Given the description of an element on the screen output the (x, y) to click on. 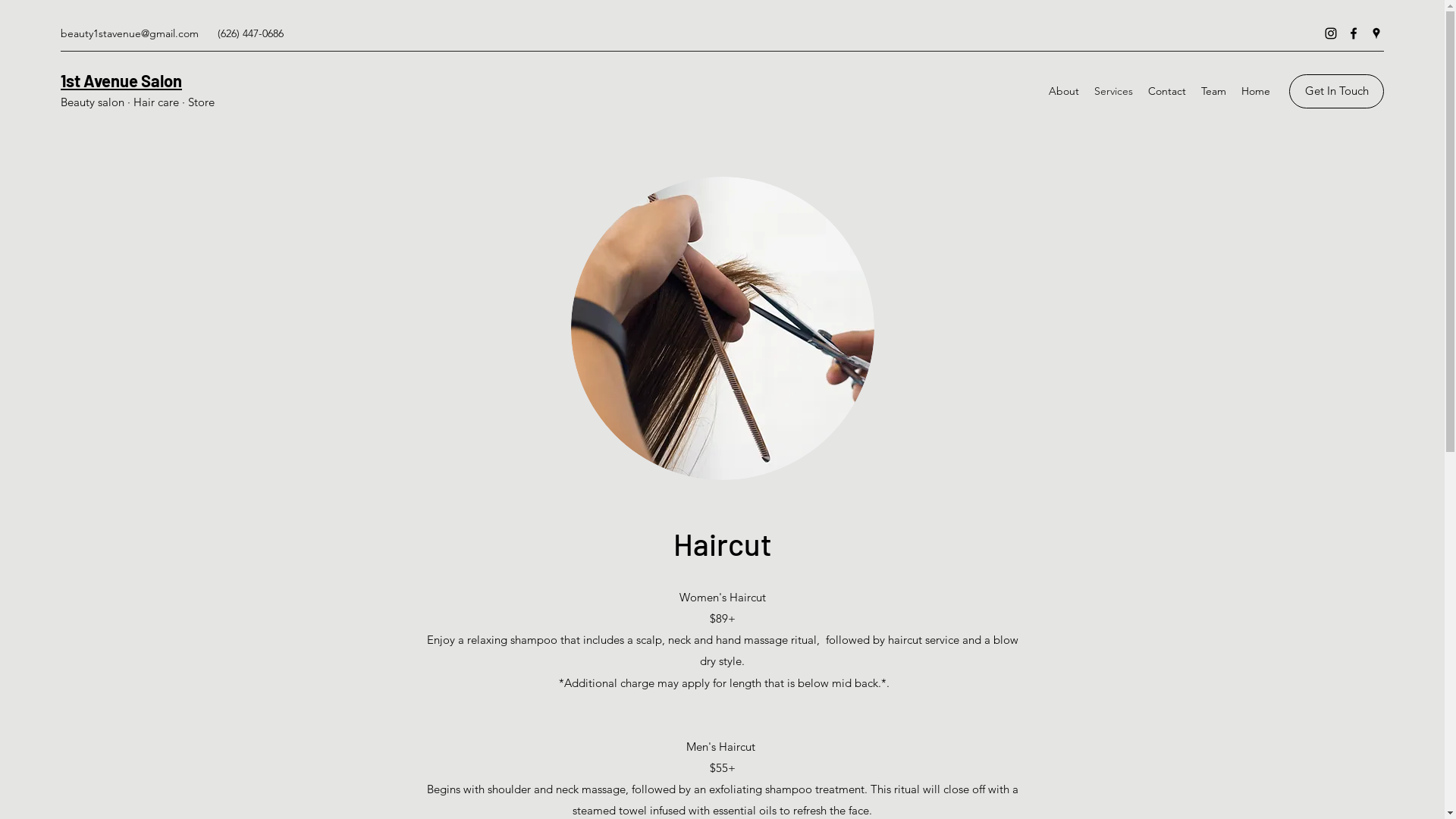
Services Element type: text (1113, 90)
Home Element type: text (1255, 90)
About Element type: text (1063, 90)
Contact Element type: text (1166, 90)
beauty1stavenue@gmail.com Element type: text (129, 33)
1st Avenue Salon Element type: text (121, 80)
Team Element type: text (1213, 90)
